Given the description of an element on the screen output the (x, y) to click on. 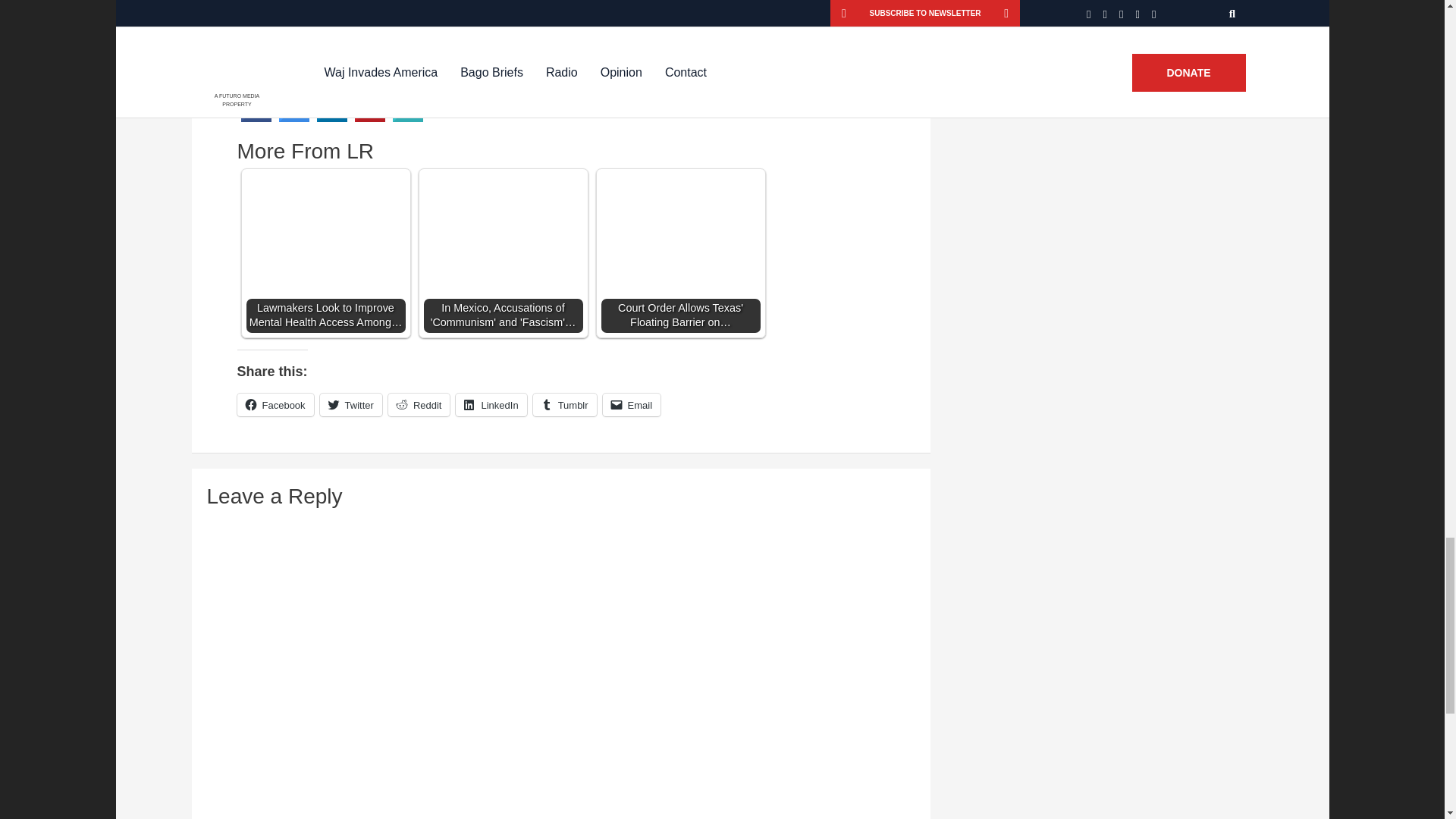
Email (631, 404)
Share to LinkedIn (332, 117)
Twitter (350, 404)
Click to share on Facebook (274, 404)
Click to share on Twitter (350, 404)
Facebook (274, 404)
Print this page (408, 117)
Share on Pinterest (370, 117)
Click to share on LinkedIn (490, 404)
Share on Facebook (255, 117)
